Given the description of an element on the screen output the (x, y) to click on. 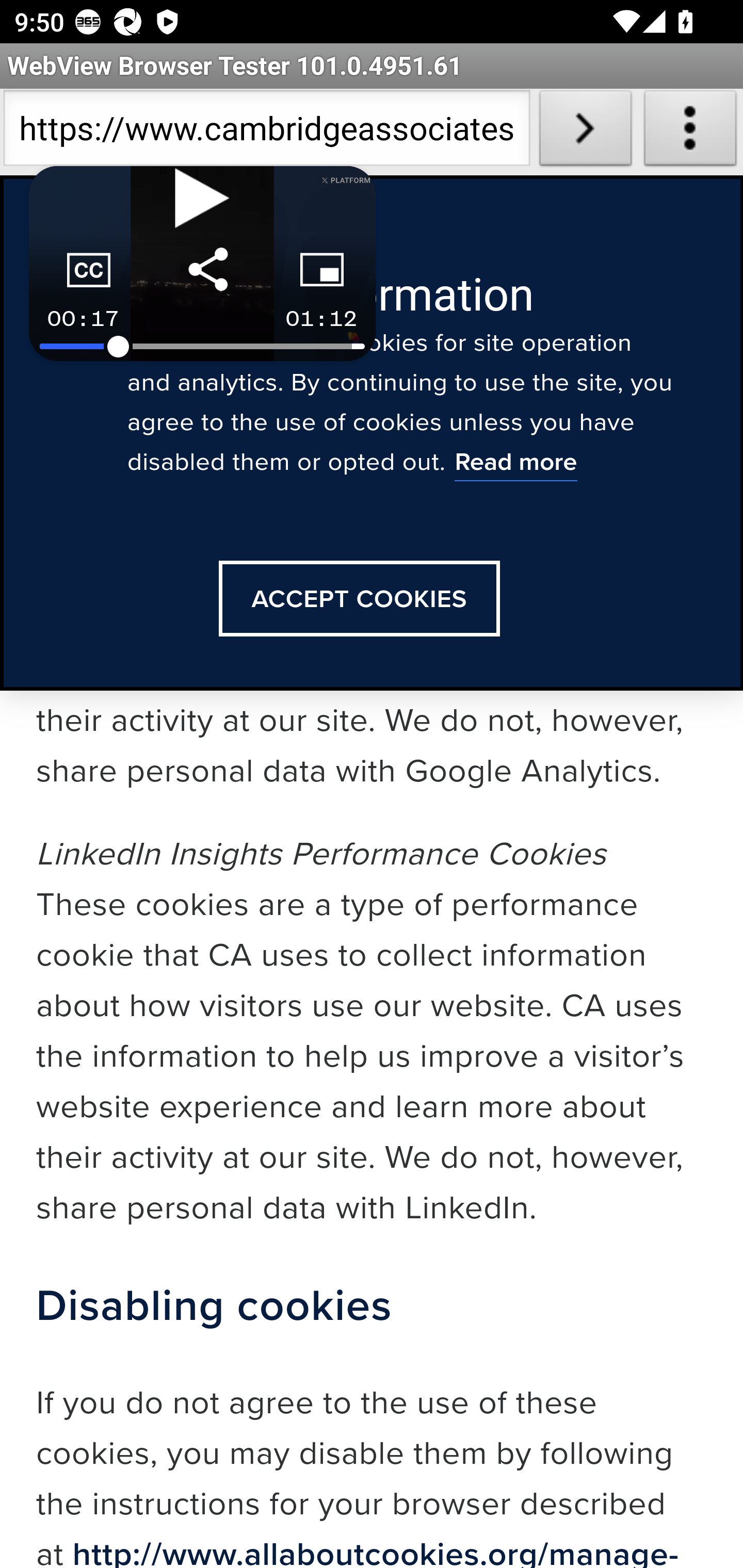
Load URL (585, 132)
About WebView (690, 132)
Read more (515, 464)
ACCEPT COOKIES (359, 600)
http://www.allaboutcookies.org/manage-cookies/ (358, 1549)
